Given the description of an element on the screen output the (x, y) to click on. 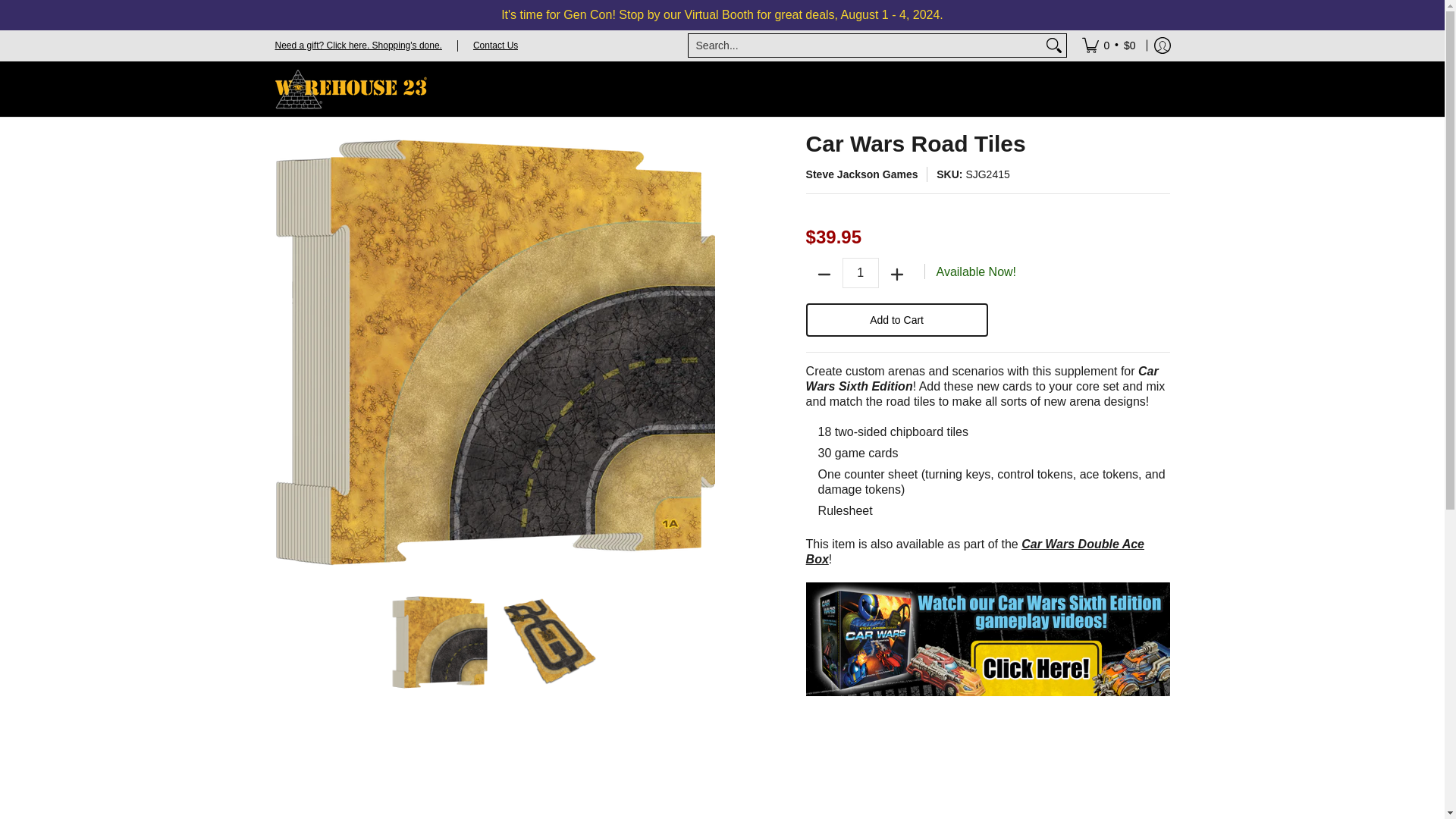
Cart (1108, 45)
Warehouse 23 Gift Certificate (358, 44)
Need a gift? Click here. Shopping's done. (358, 44)
Warehouse 23 (350, 89)
1 (861, 272)
Contact Us (495, 44)
Log in (1161, 45)
